Given the description of an element on the screen output the (x, y) to click on. 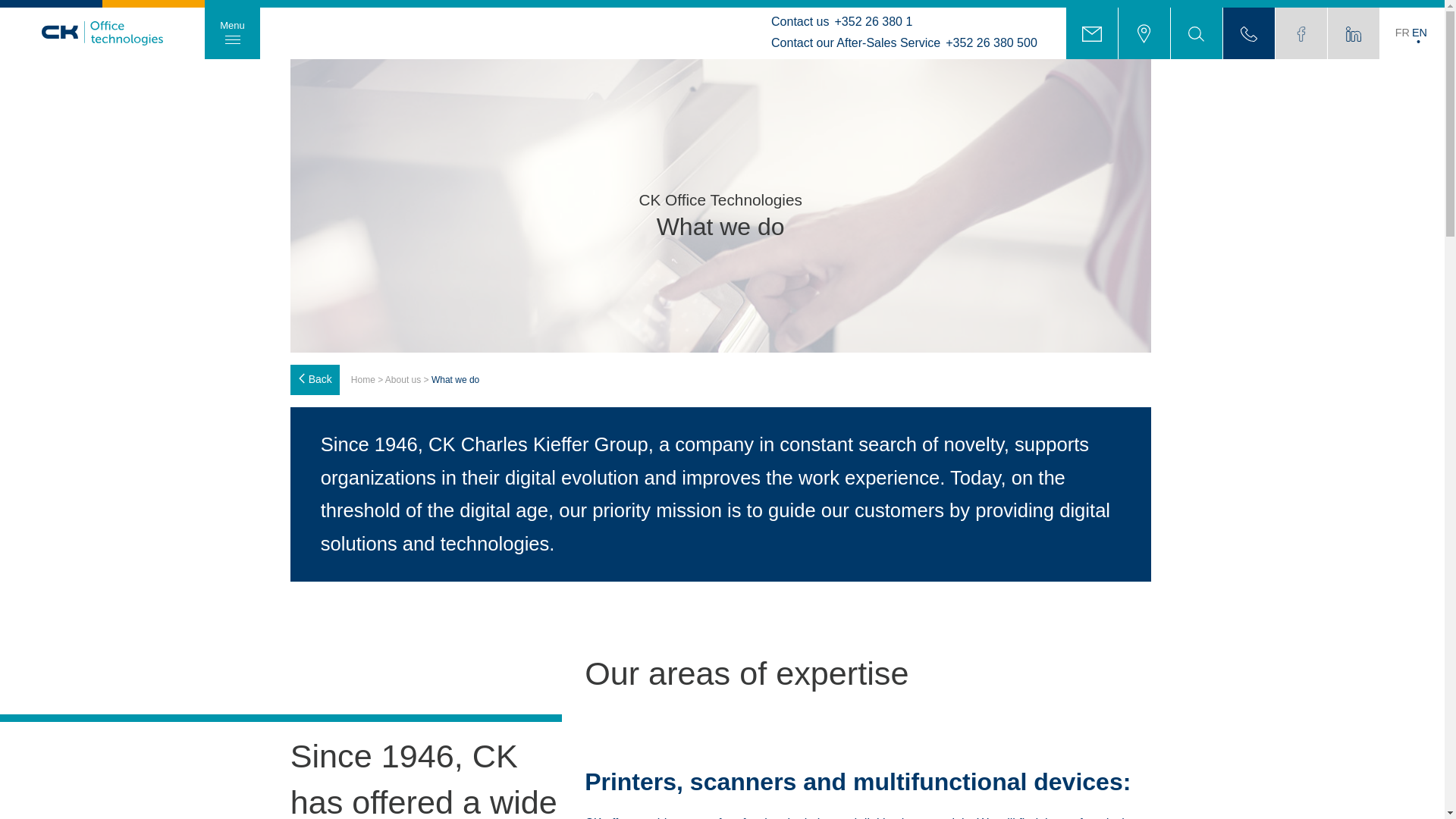
Our LinkedIn account (1352, 32)
Contact (1091, 32)
Voir l'annuaire (1248, 33)
Our Facebook account (1300, 32)
Search (1196, 32)
Where to find us ? (1144, 32)
FR (1401, 32)
CK Group (50, 25)
Voir l'annuaire (1249, 32)
EN (1419, 32)
